Given the description of an element on the screen output the (x, y) to click on. 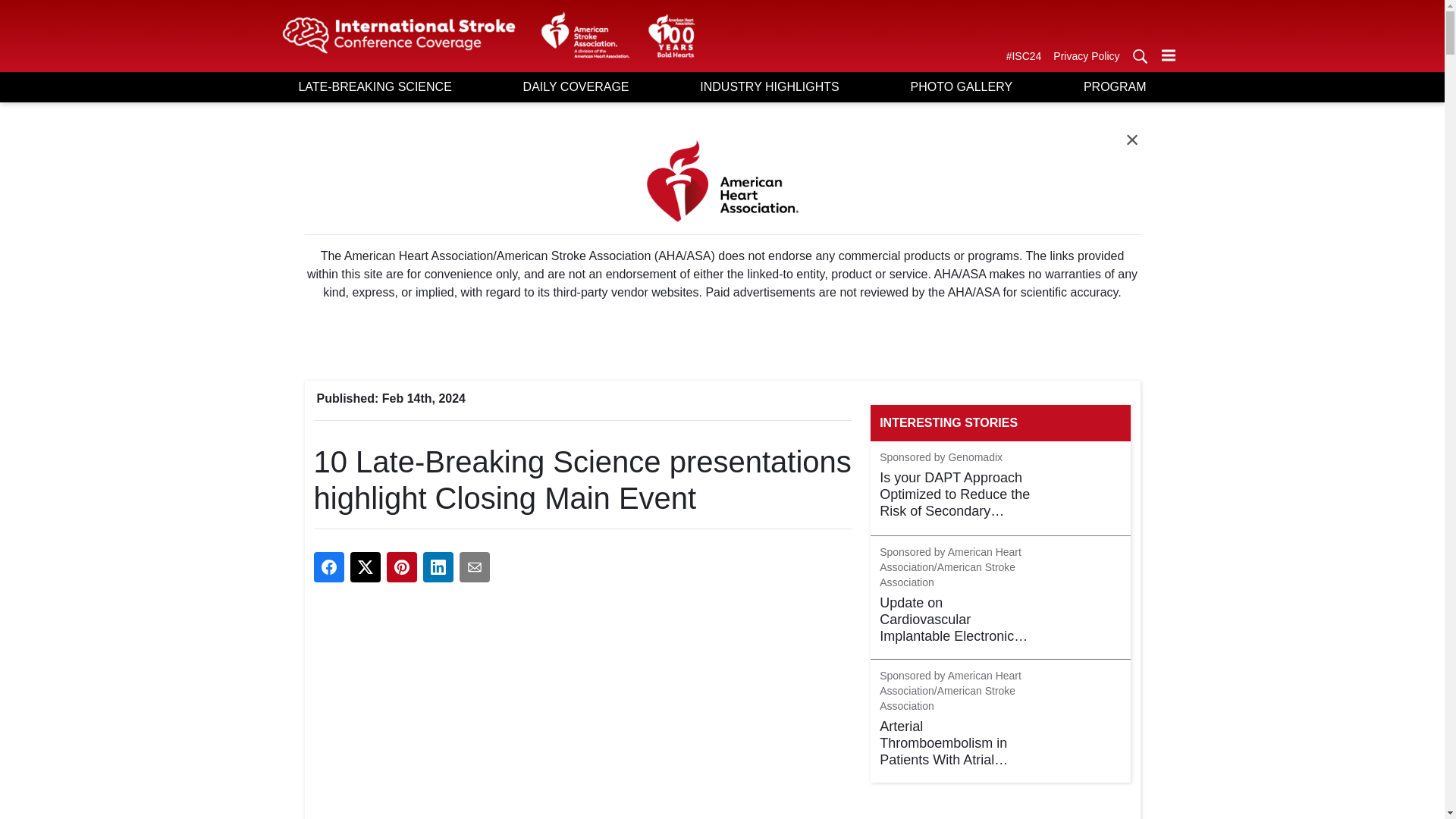
PROGRAM (1114, 86)
Share To pinterest (401, 567)
Sponsored by Genomadix (941, 458)
INDUSTRY HIGHLIGHTS (769, 86)
PHOTO GALLERY (960, 86)
Share To email (474, 567)
Search (1139, 55)
Share To facebook (328, 567)
DAILY COVERAGE (575, 86)
